Given the description of an element on the screen output the (x, y) to click on. 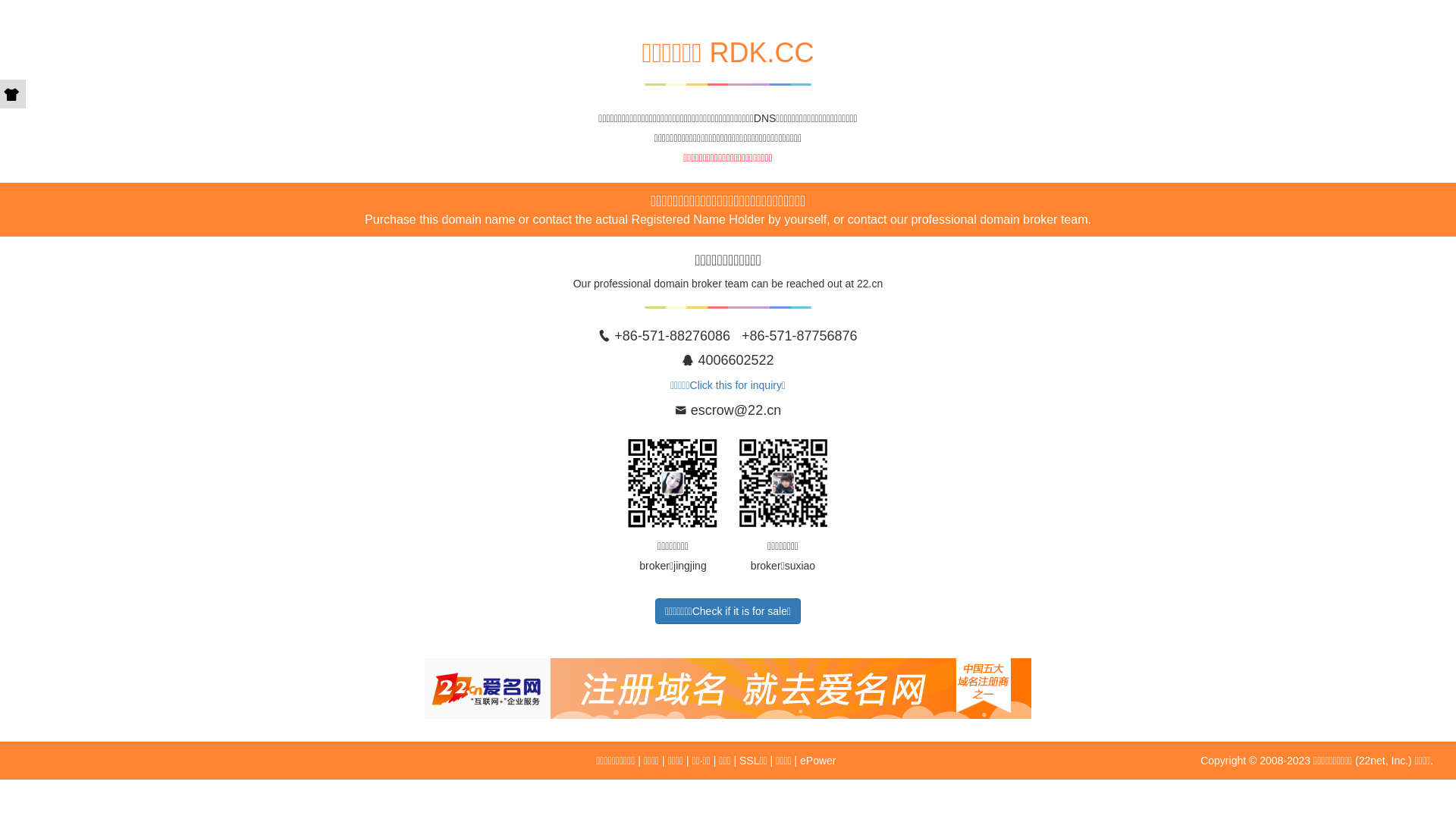
ePower Element type: text (817, 760)
